Given the description of an element on the screen output the (x, y) to click on. 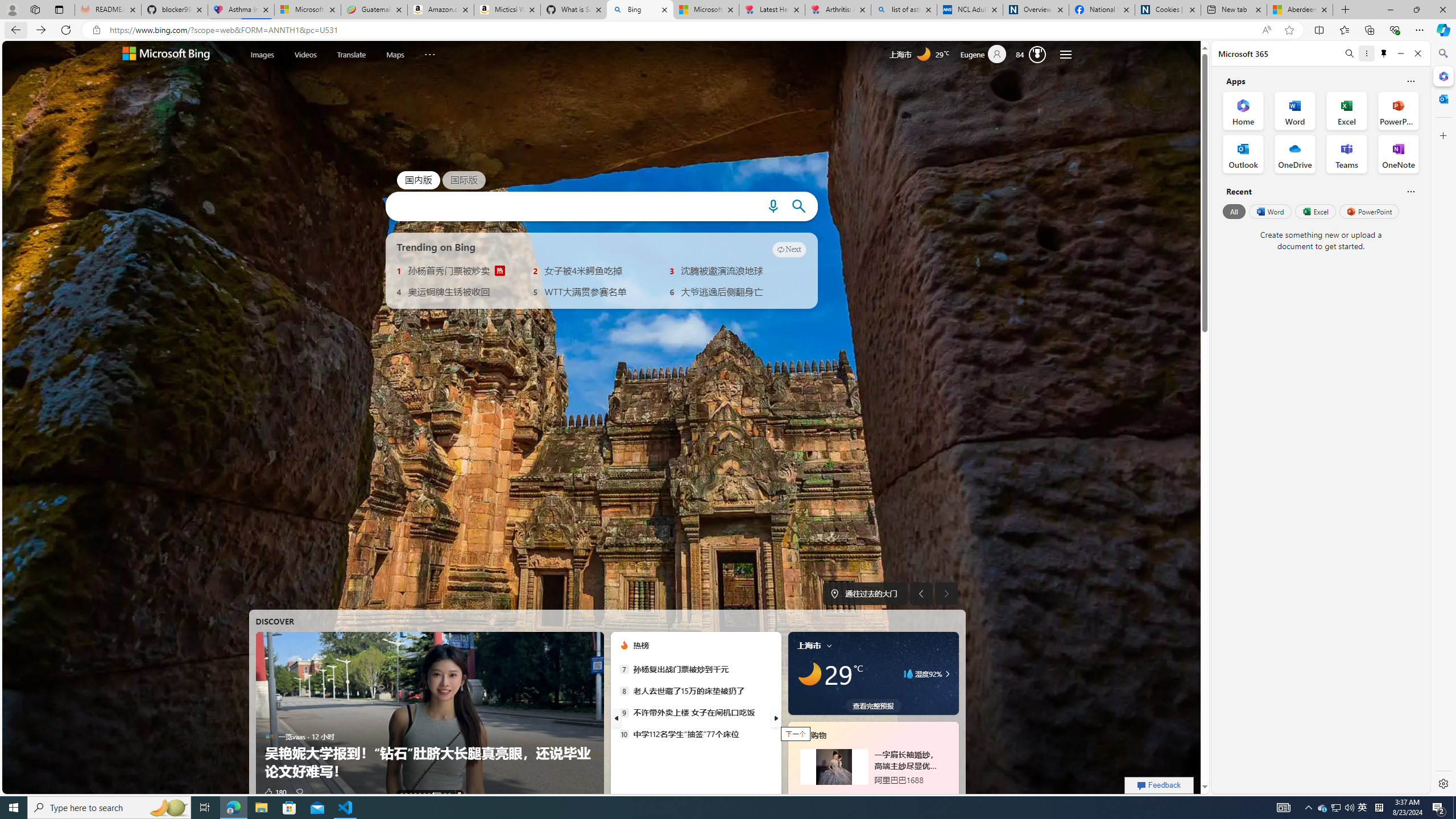
AutomationID: tab-8 (444, 793)
Search using voice (772, 205)
AutomationID: tab-6 (428, 793)
Microsoft Rewards 84 (1033, 54)
